Given the description of an element on the screen output the (x, y) to click on. 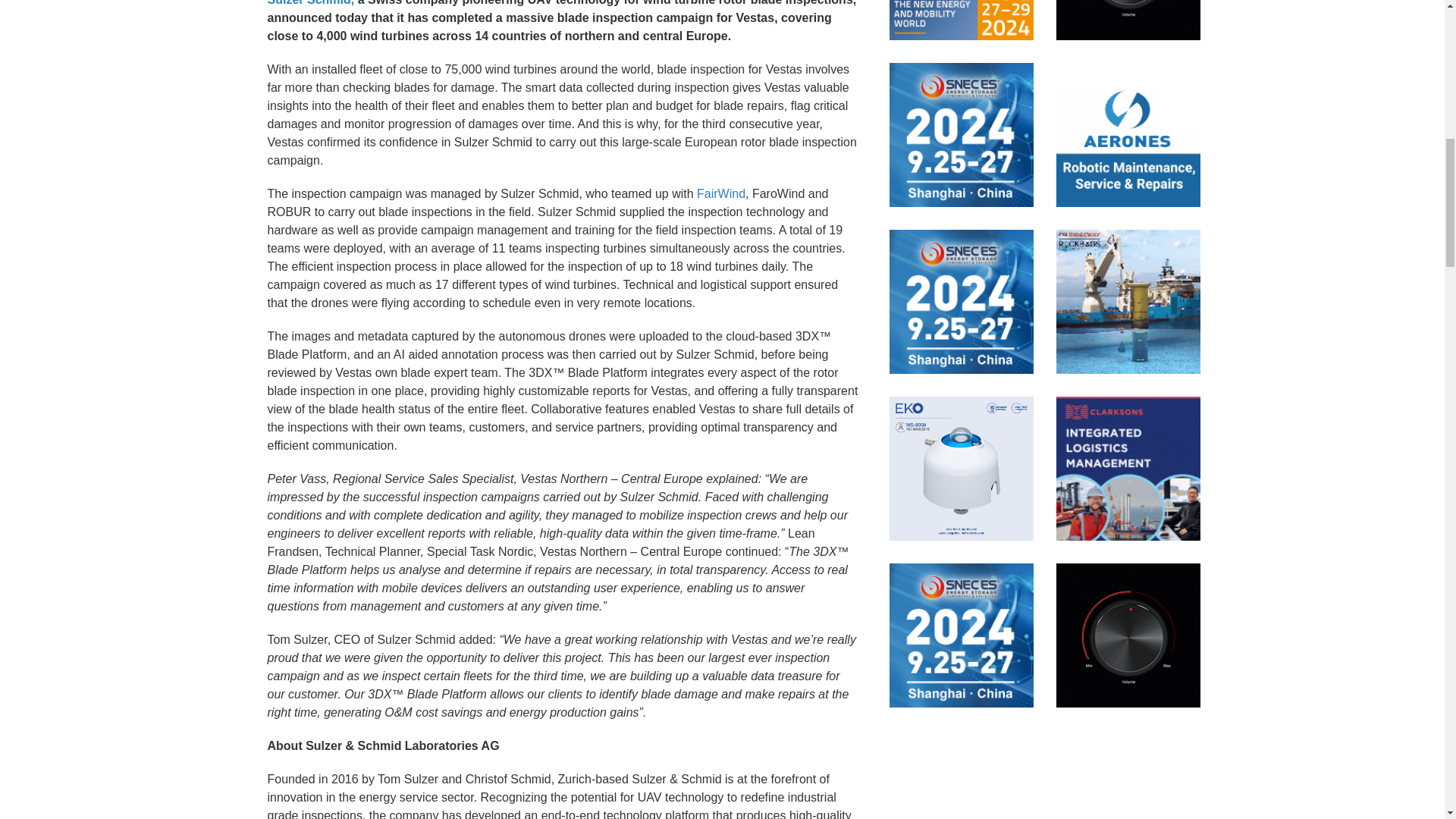
FairWind (721, 193)
Sulzer Schmid, (309, 2)
